Given the description of an element on the screen output the (x, y) to click on. 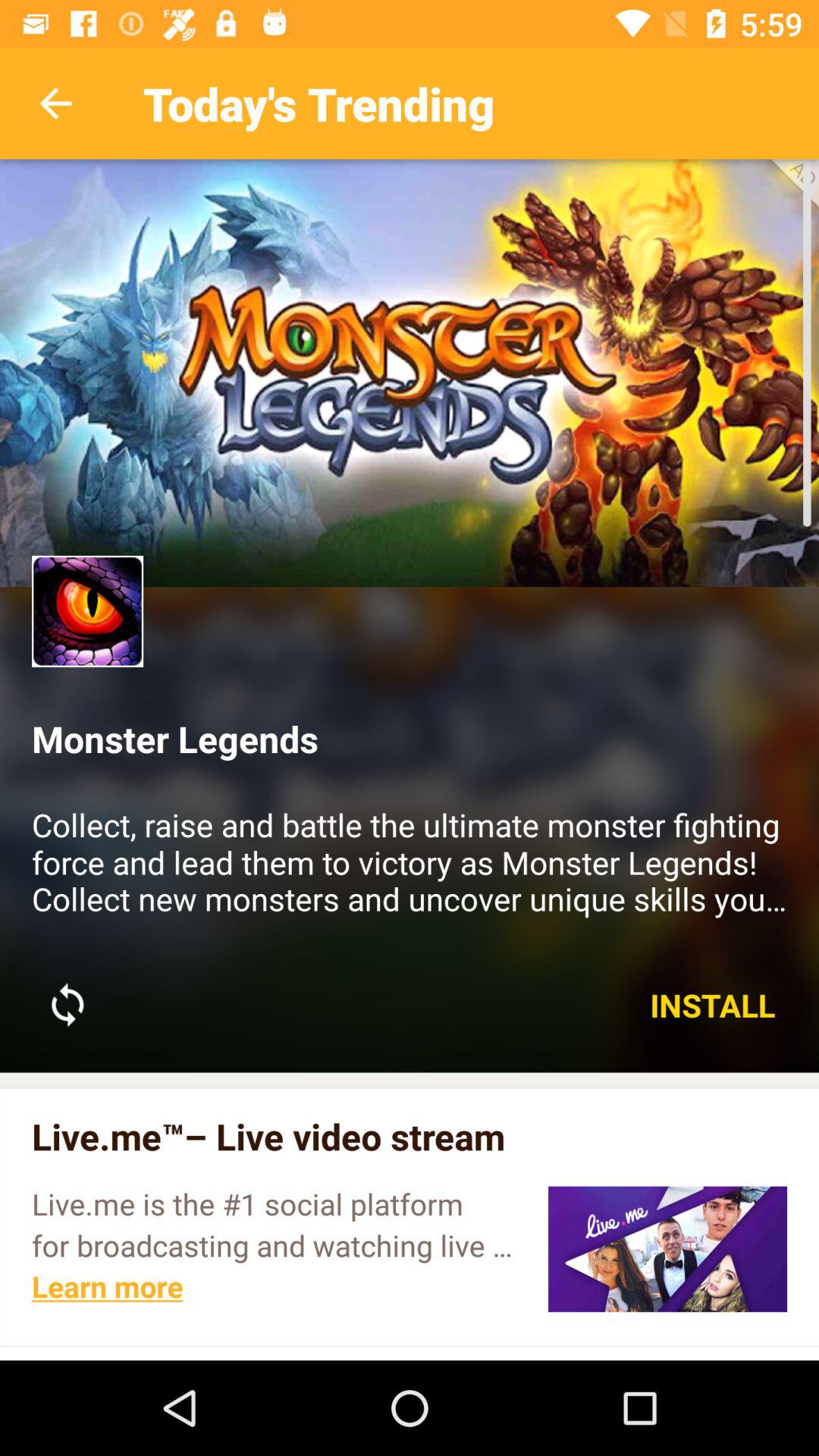
refresh the trending apps (67, 1004)
